Given the description of an element on the screen output the (x, y) to click on. 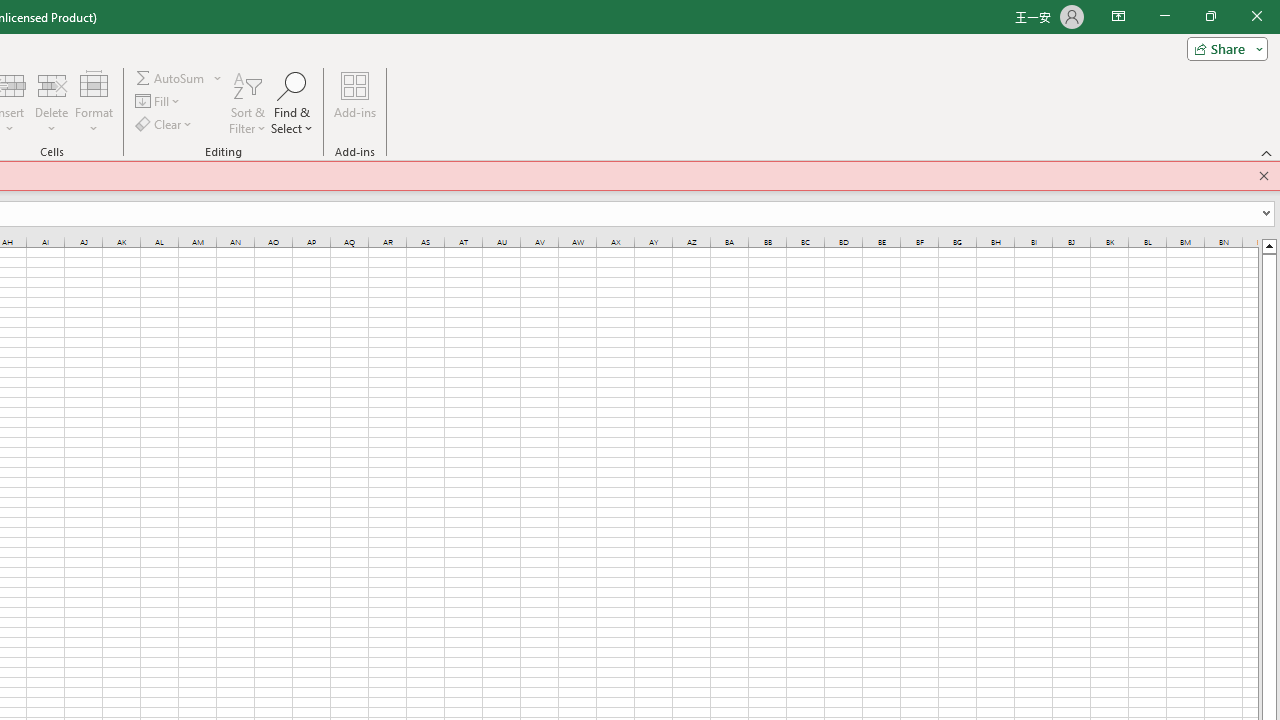
Fill (158, 101)
Clear (164, 124)
Sum (171, 78)
More Options (218, 78)
Find & Select (292, 102)
AutoSum (178, 78)
Share (1223, 48)
Collapse the Ribbon (1267, 152)
Minimize (1164, 16)
Close (1256, 16)
Ribbon Display Options (1118, 16)
Delete Cells... (51, 84)
Delete (51, 102)
